Given the description of an element on the screen output the (x, y) to click on. 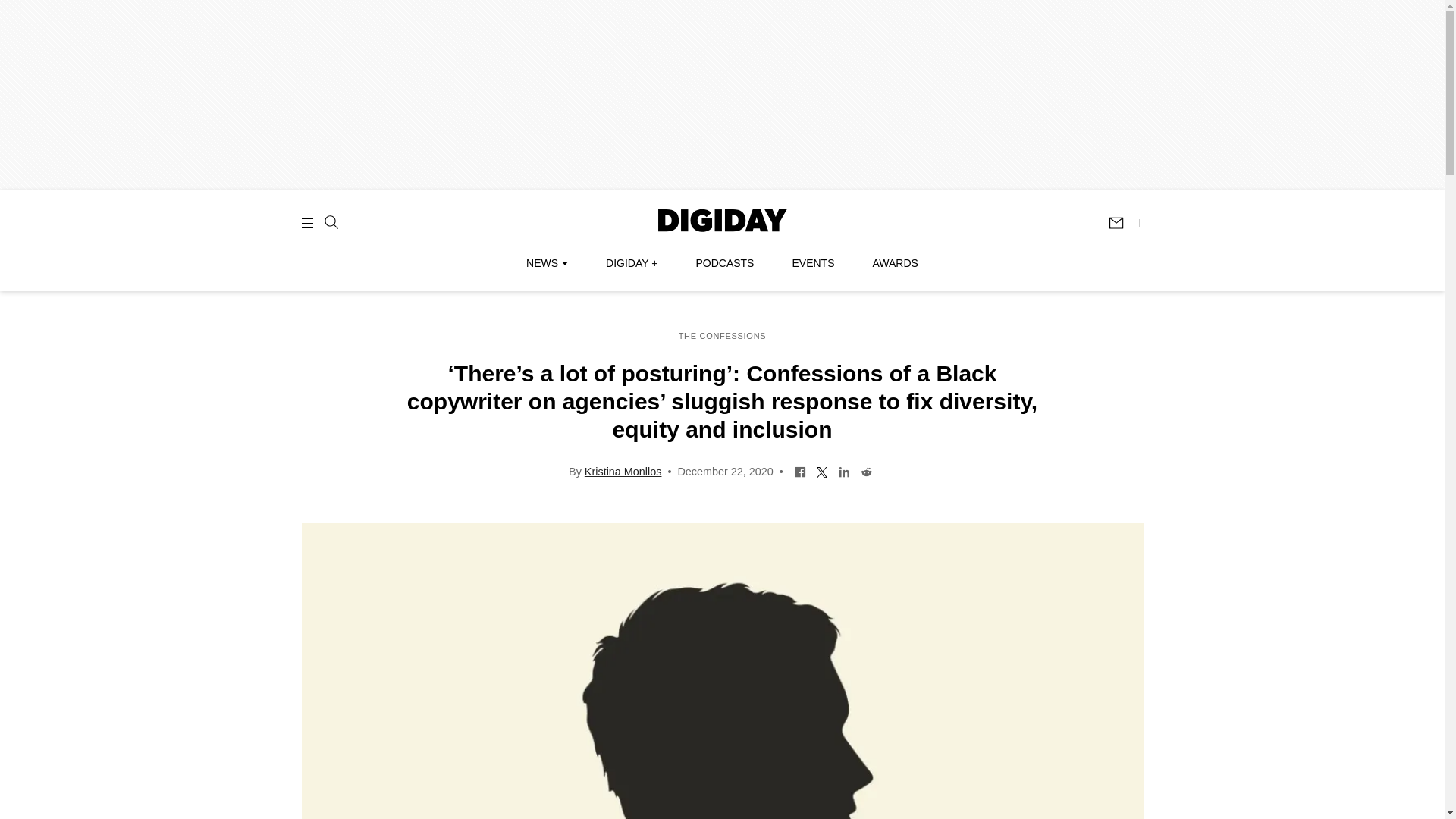
AWARDS (894, 262)
Subscribe (1123, 223)
Share on LinkedIn (844, 470)
Share on Facebook (799, 470)
PODCASTS (725, 262)
Share on Twitter (821, 470)
NEWS (546, 262)
Share on Reddit (866, 470)
EVENTS (813, 262)
